Given the description of an element on the screen output the (x, y) to click on. 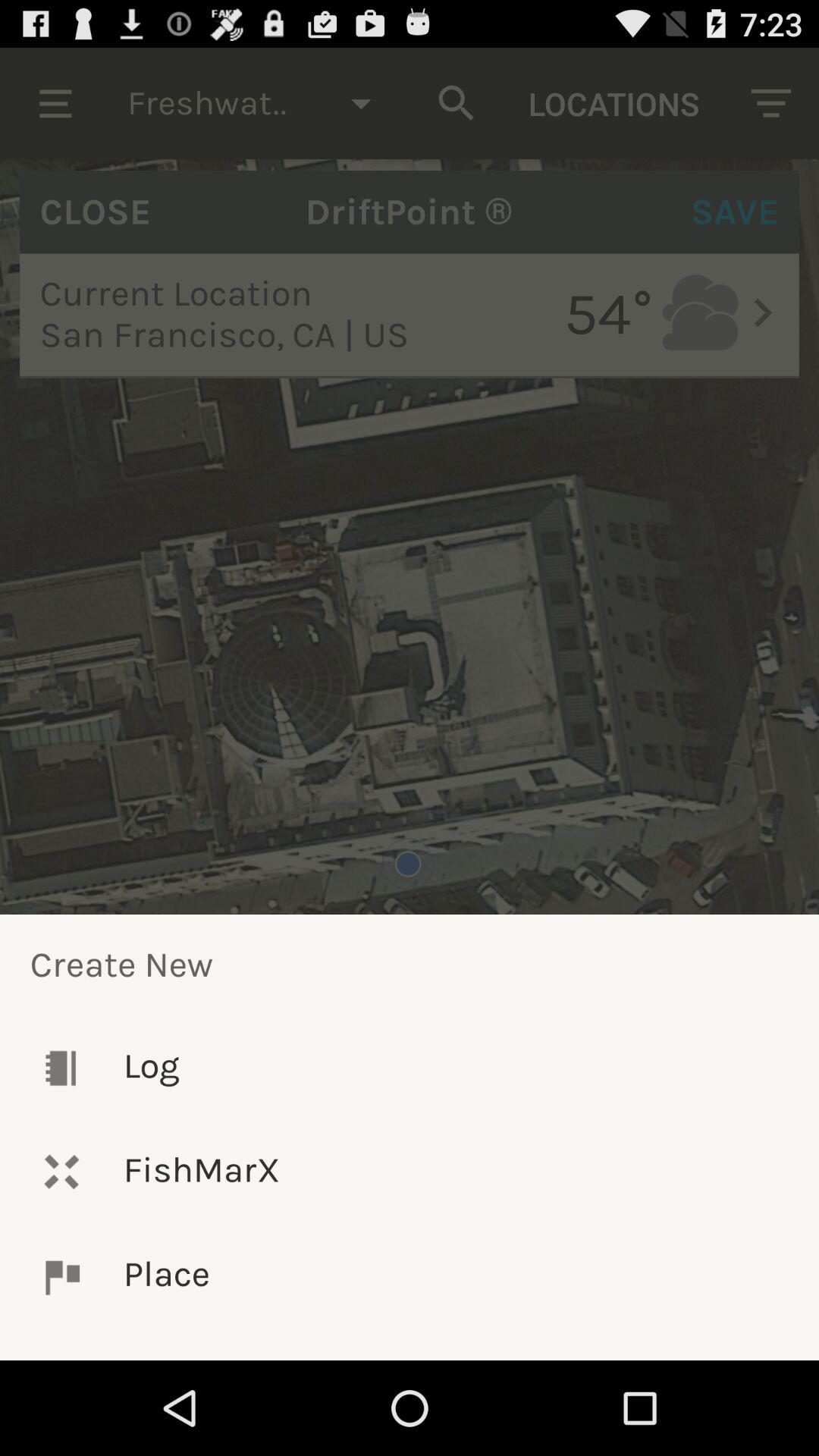
launch the icon below create new item (409, 1067)
